Given the description of an element on the screen output the (x, y) to click on. 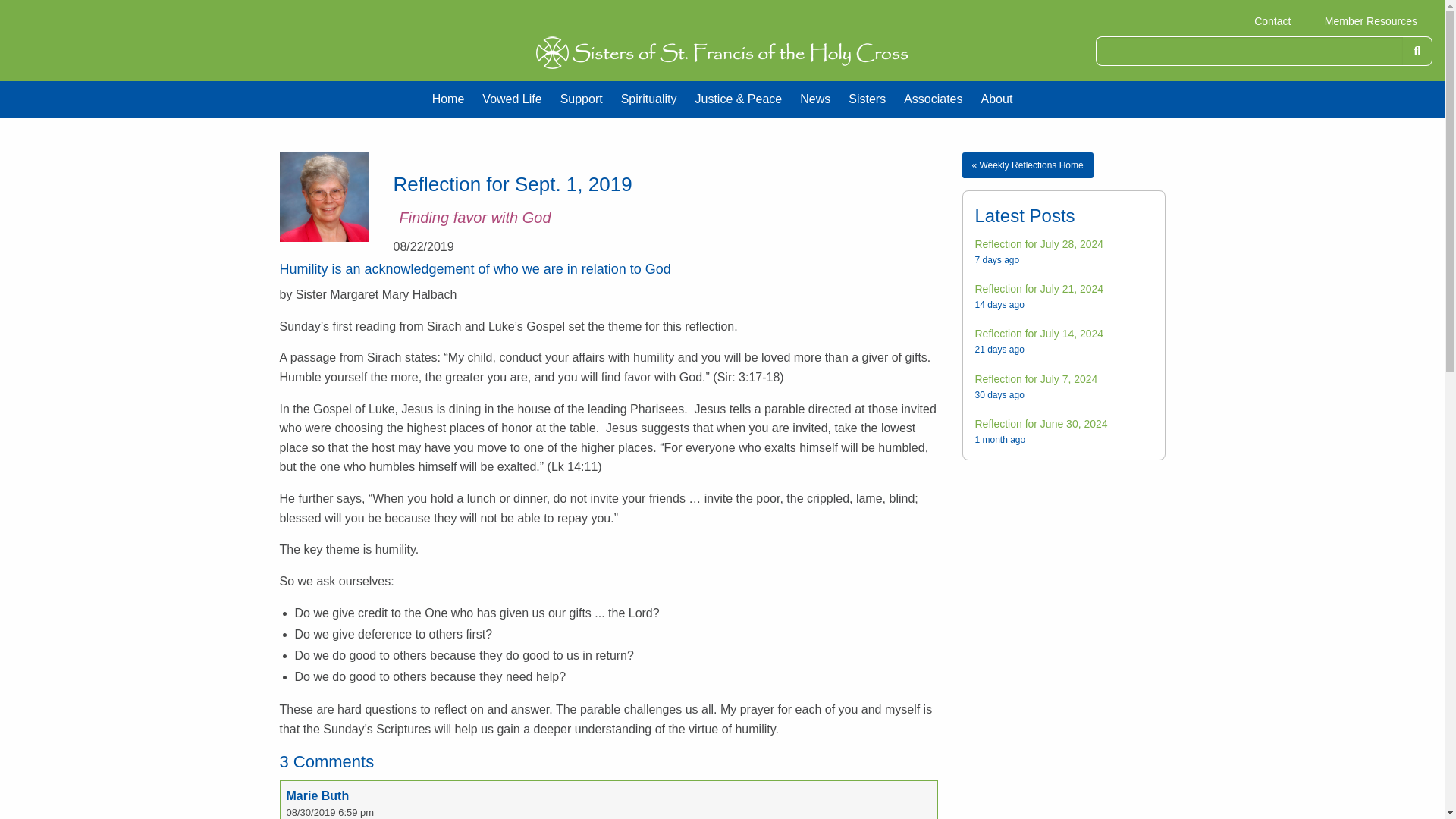
Spirituality (648, 98)
Sisters of St. Francis of the Holy Cross in Green Bay, WI (721, 52)
Support (581, 98)
Search (1417, 51)
Reflection for Sept. 1, 2019 (323, 196)
Member Resources (1370, 21)
Home (448, 98)
Vowed Life (511, 98)
Contact (1272, 21)
